Given the description of an element on the screen output the (x, y) to click on. 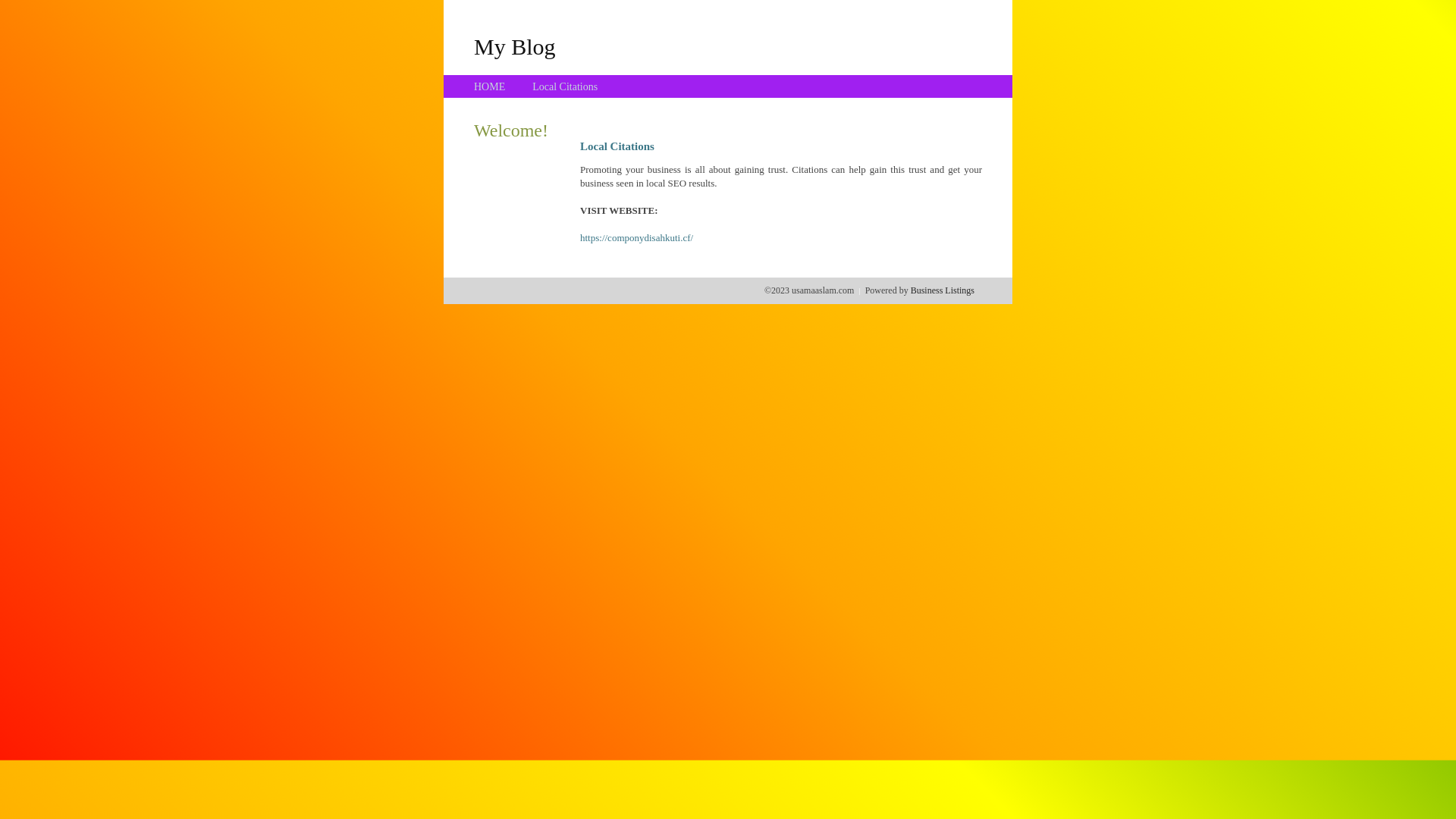
Local Citations Element type: text (564, 86)
HOME Element type: text (489, 86)
https://componydisahkuti.cf/ Element type: text (636, 237)
My Blog Element type: text (514, 46)
Business Listings Element type: text (942, 290)
